Given the description of an element on the screen output the (x, y) to click on. 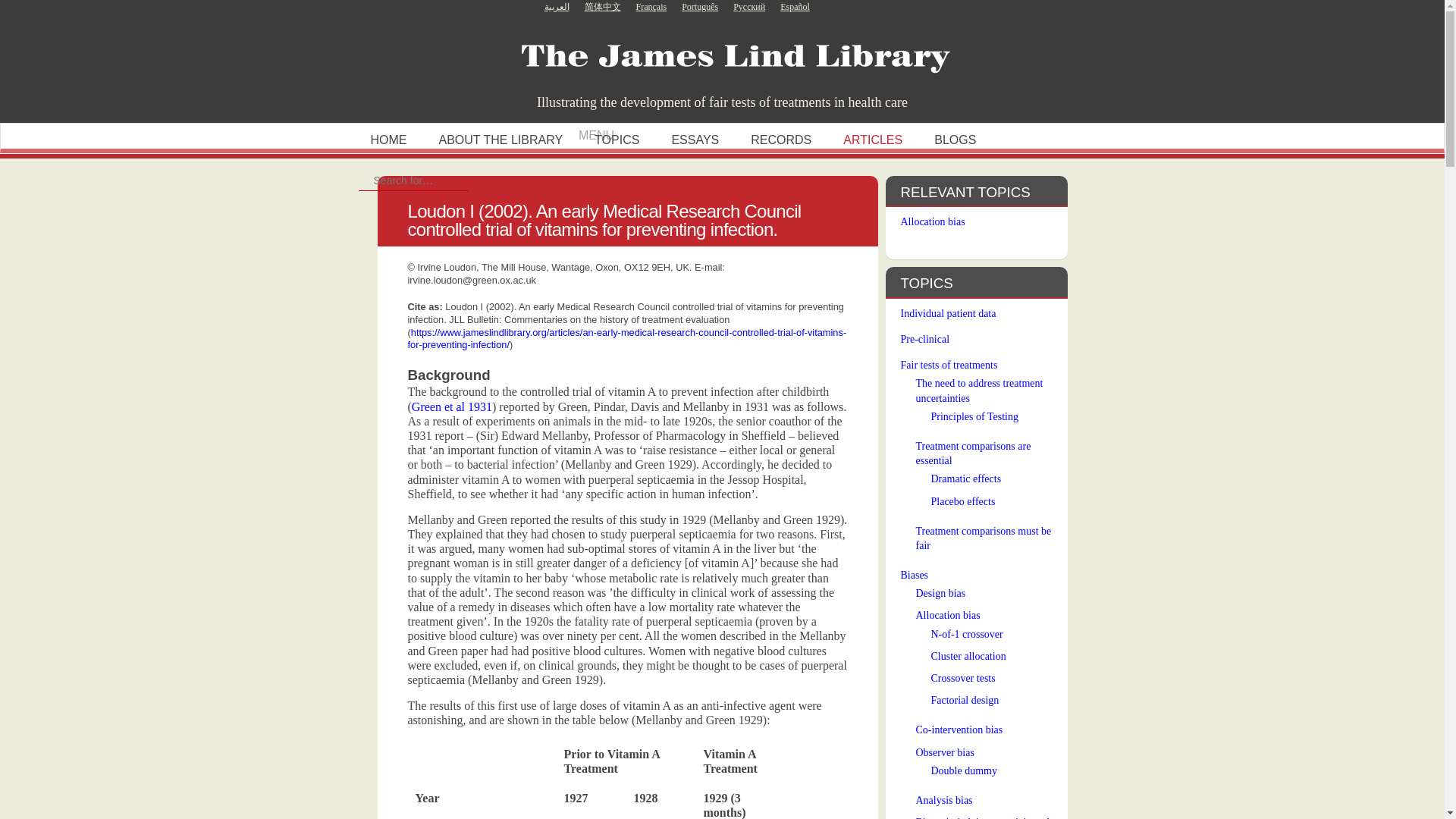
Allocation bias (947, 614)
Factorial design (964, 699)
Individual patient data (948, 313)
Pre-clinical (925, 338)
ARTICLES (872, 139)
Observer bias (944, 752)
HOME (388, 139)
Placebo effects (963, 501)
Explore the Library by Topic (616, 139)
